Given the description of an element on the screen output the (x, y) to click on. 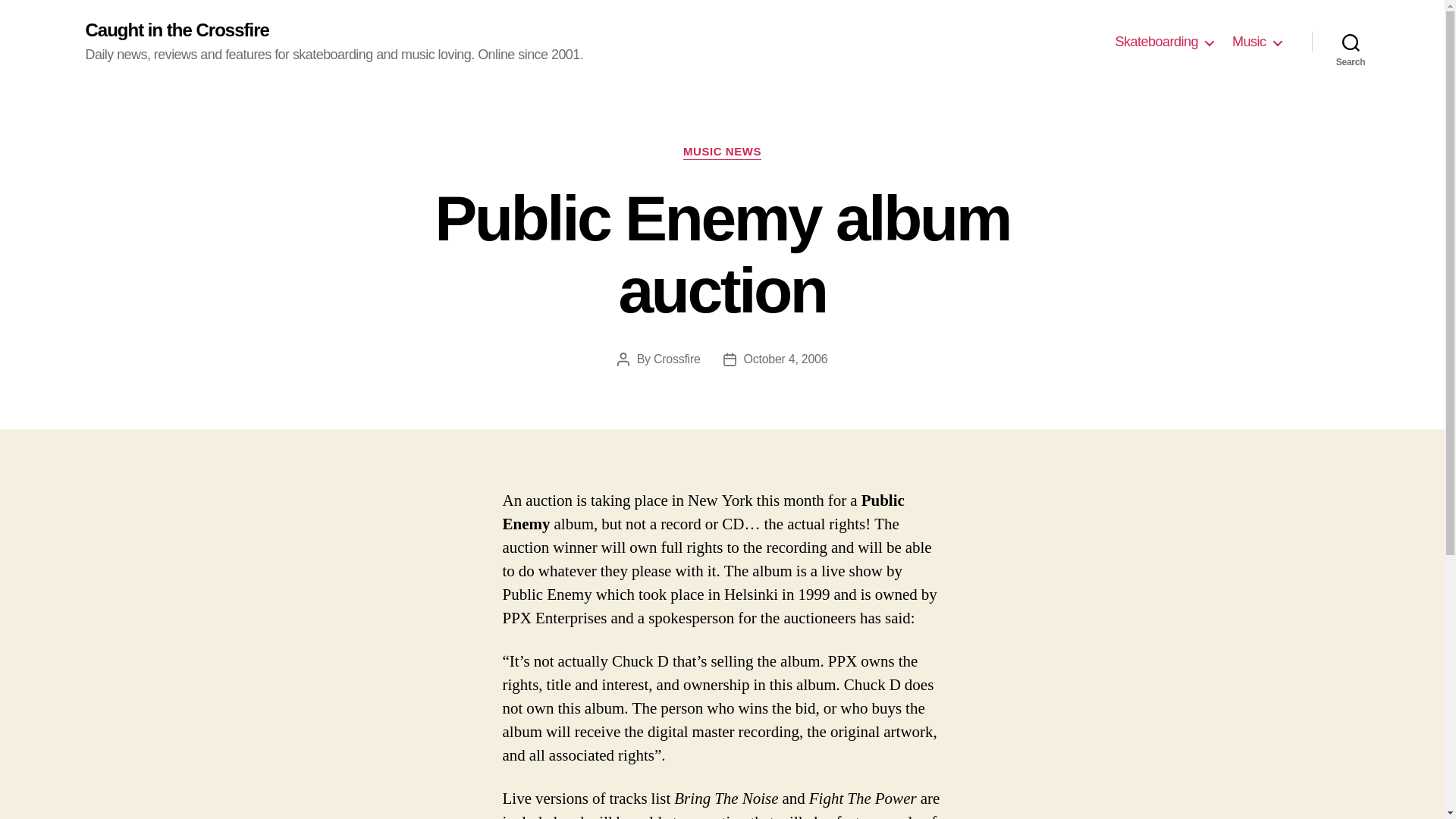
Music (1256, 42)
Caught in the Crossfire (175, 30)
Search (1350, 41)
Skateboarding (1163, 42)
